Given the description of an element on the screen output the (x, y) to click on. 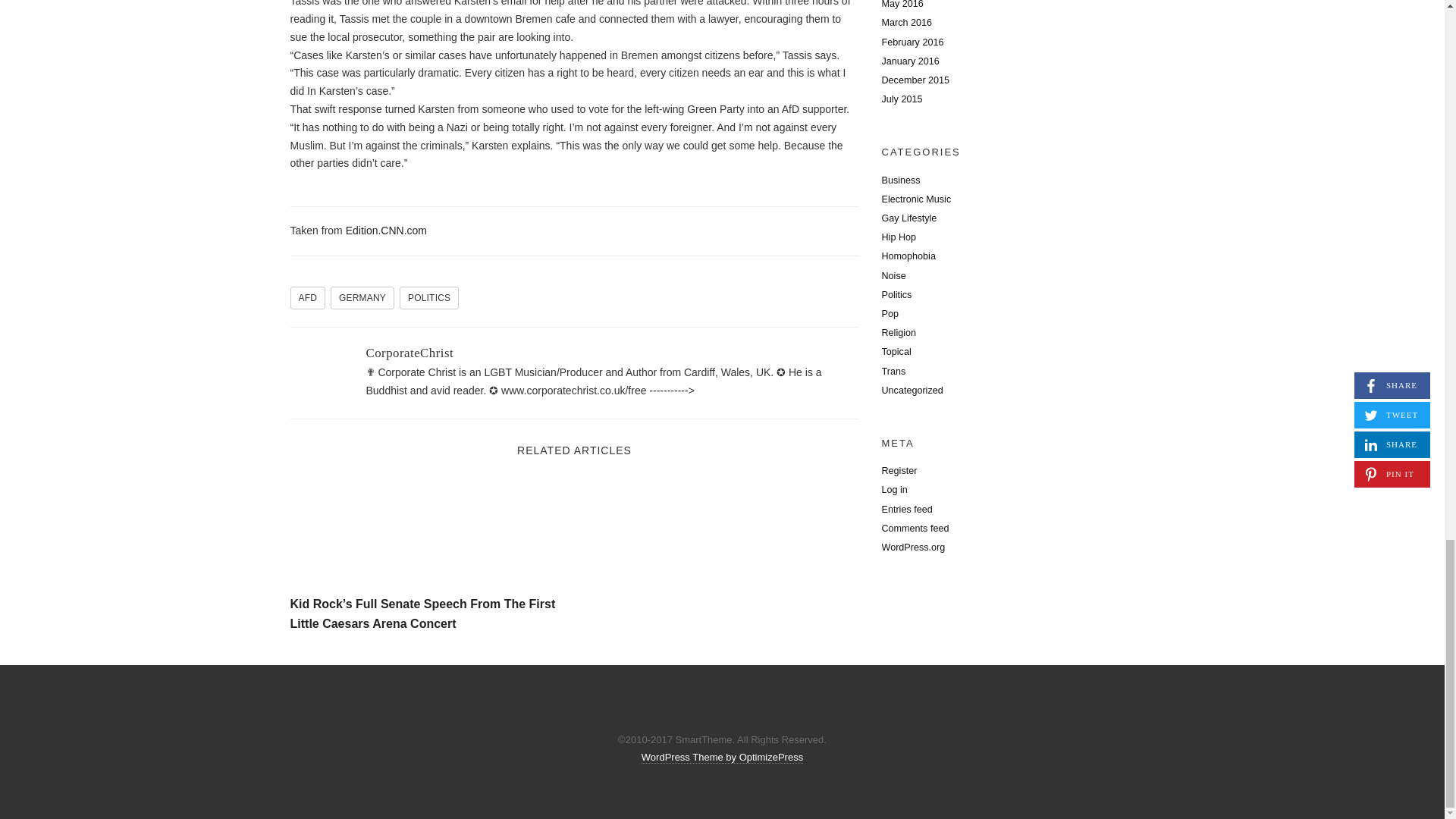
AFD (306, 297)
Germany Tag (362, 297)
GERMANY (362, 297)
CorporateChrist (408, 352)
POLITICS (428, 297)
Politics Tag (428, 297)
AfD Tag (306, 297)
Edition.CNN.com (386, 230)
